Given the description of an element on the screen output the (x, y) to click on. 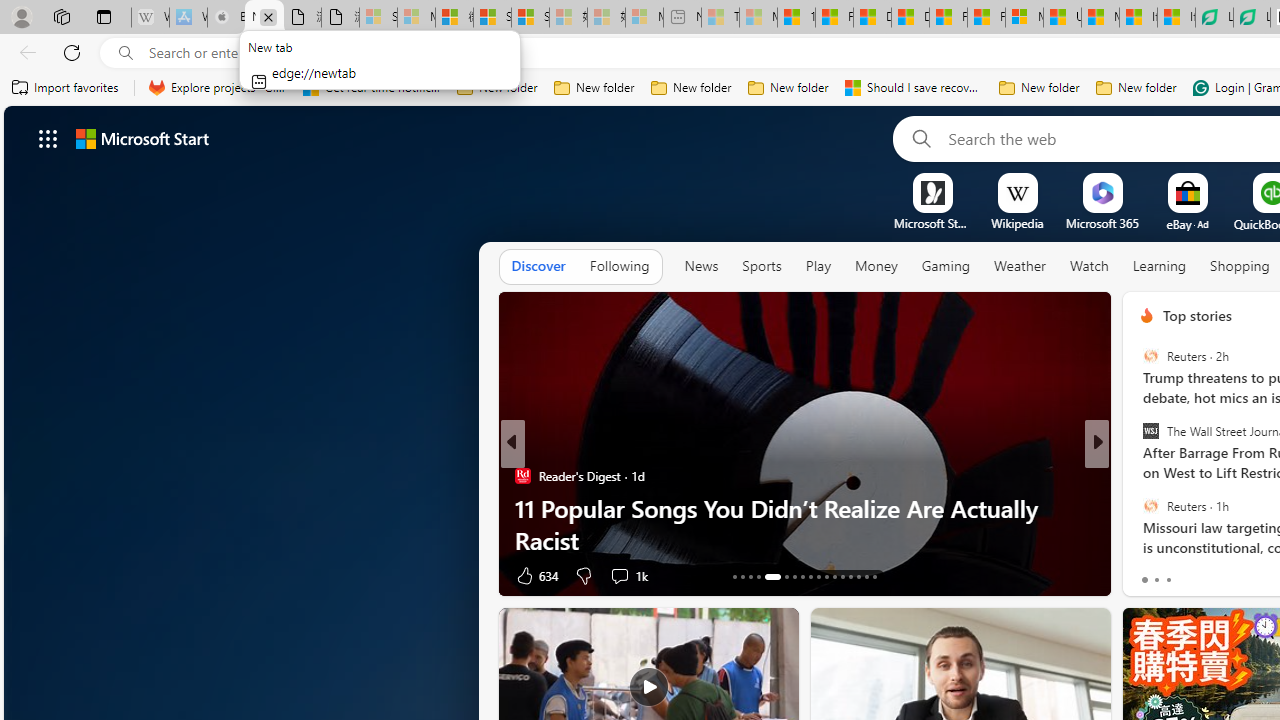
20 Like (1149, 574)
View comments 1k Comment (619, 575)
AutomationID: tab-42 (850, 576)
AutomationID: tab-14 (742, 576)
Top stories (1196, 315)
AutomationID: tab-17 (772, 576)
AutomationID: tab-19 (793, 576)
